Given the description of an element on the screen output the (x, y) to click on. 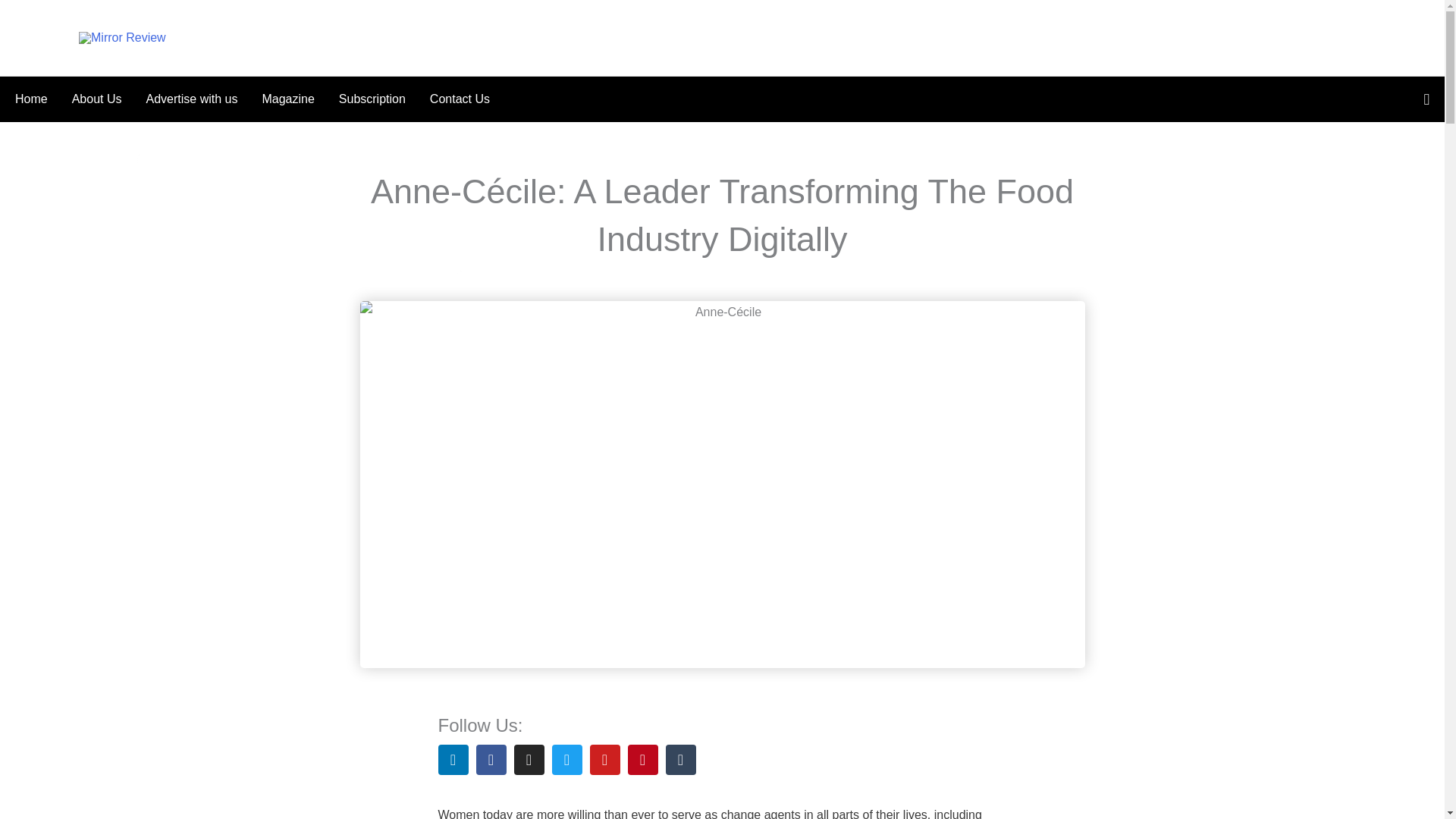
Tumblr (680, 759)
Youtube (604, 759)
Advertise with us (190, 99)
About Us (96, 99)
Pinterest (642, 759)
Instagram (528, 759)
Main Menu (43, 37)
Twitter (566, 759)
Linkedin (453, 759)
Subscription (371, 99)
Home (36, 99)
Magazine (287, 99)
Contact Us (453, 99)
Facebook (491, 759)
